Given the description of an element on the screen output the (x, y) to click on. 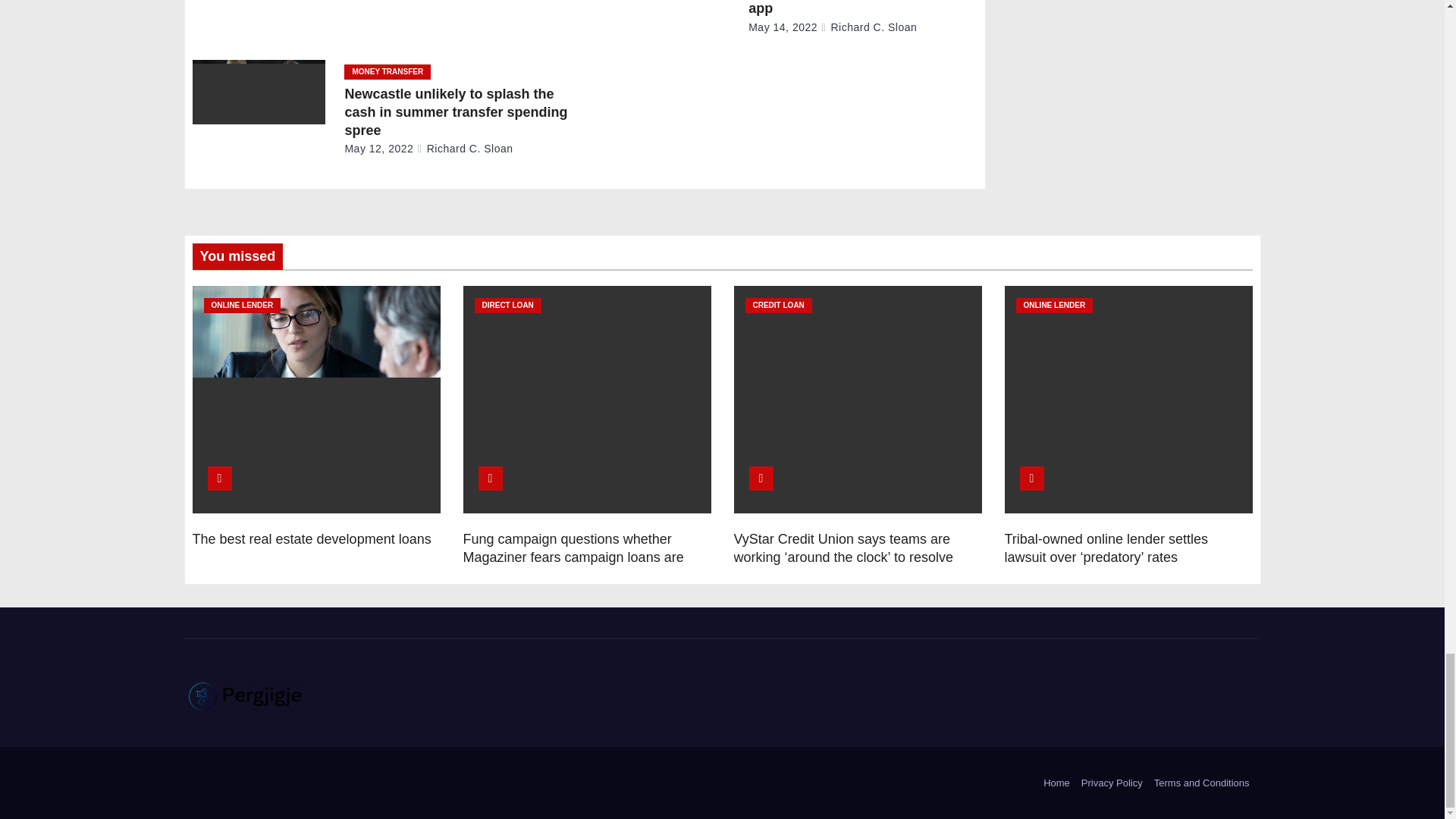
Permalink to: The best real estate development loans (311, 539)
